Given the description of an element on the screen output the (x, y) to click on. 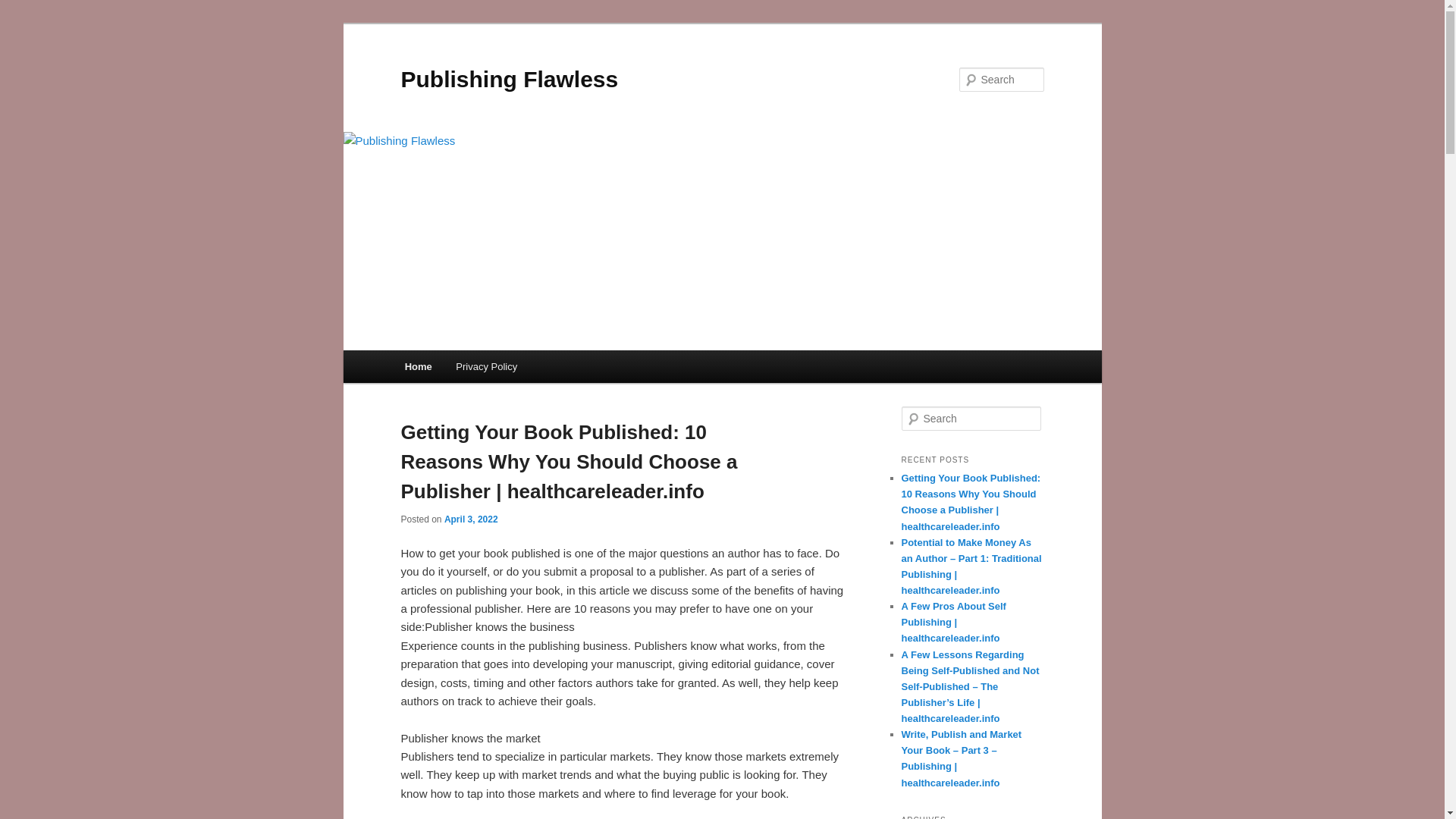
Publishing Flawless (508, 78)
11:24 am (470, 519)
April 3, 2022 (470, 519)
Search (24, 8)
Home (418, 366)
Privacy Policy (486, 366)
Search (21, 11)
